Given the description of an element on the screen output the (x, y) to click on. 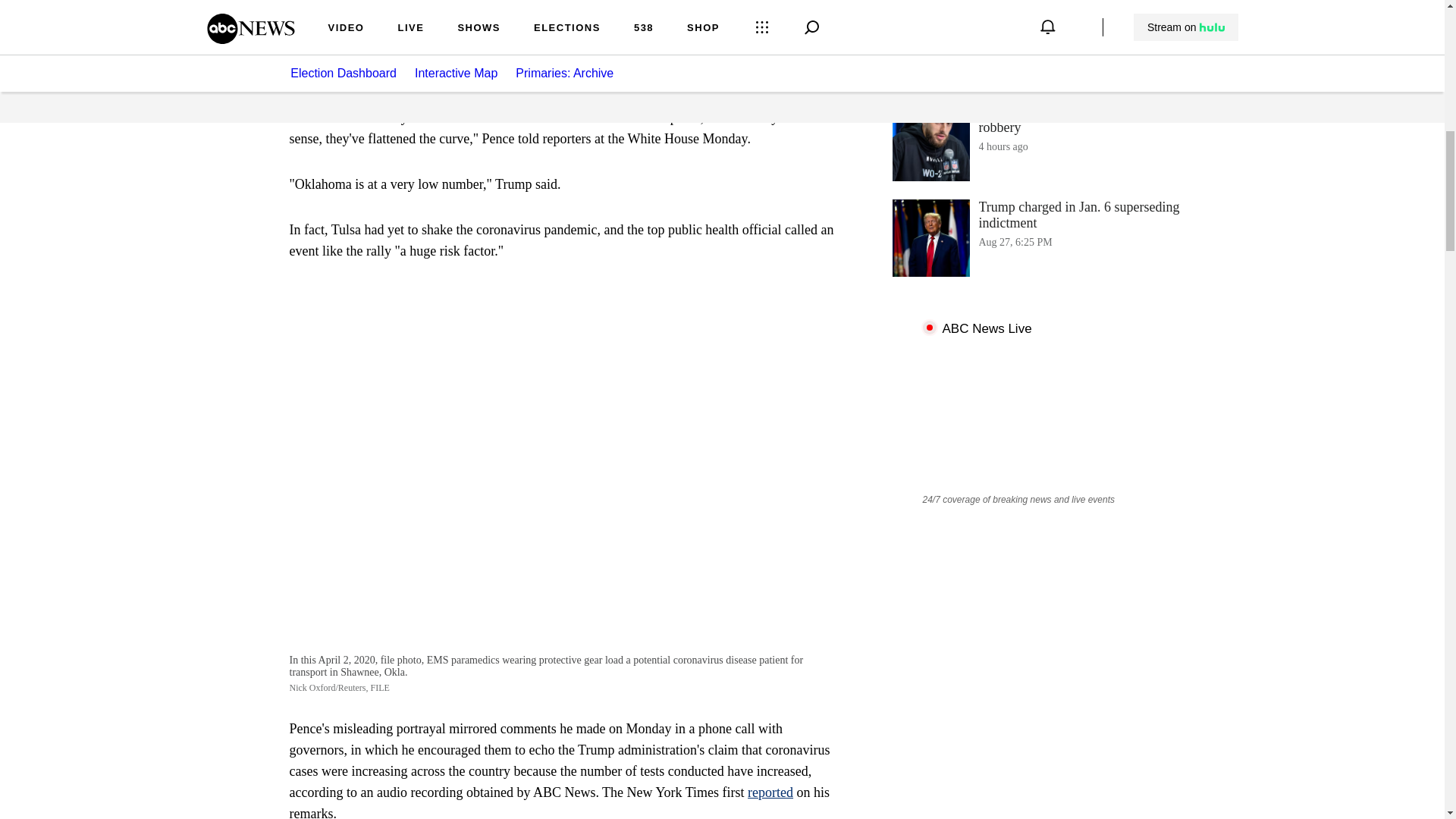
reported (1043, 46)
